Given the description of an element on the screen output the (x, y) to click on. 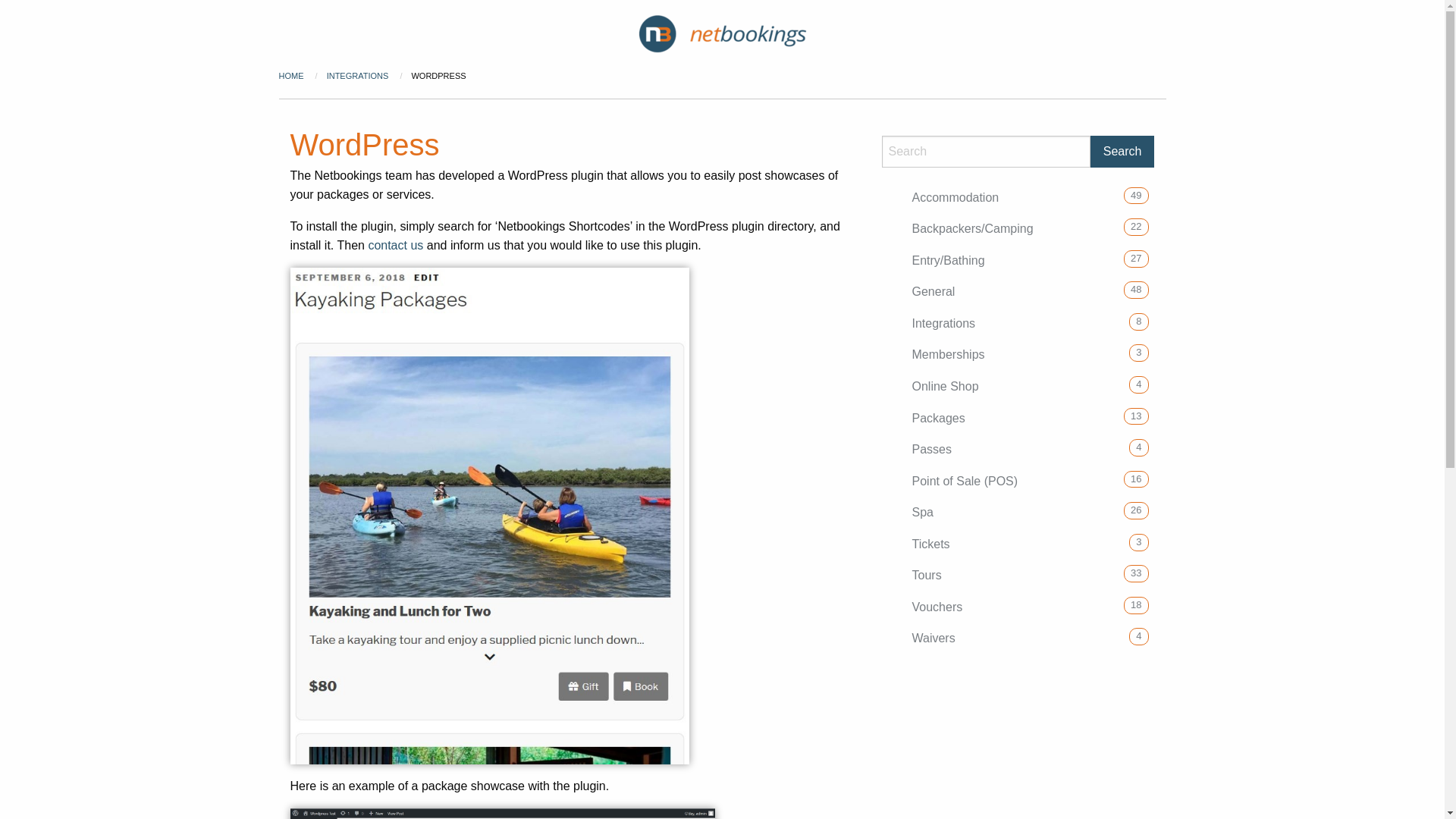
contact us Element type: text (395, 244)
Tours Element type: text (926, 575)
Online Shop Element type: text (944, 386)
General Element type: text (932, 291)
Entry/Bathing Element type: text (947, 260)
Tickets Element type: text (930, 544)
INTEGRATIONS Element type: text (358, 75)
Accommodation Element type: text (954, 197)
Memberships Element type: text (947, 354)
Integrations Element type: text (943, 323)
Search Element type: text (1122, 151)
Packages Element type: text (937, 417)
Spa Element type: text (921, 512)
Passes Element type: text (930, 449)
Point of Sale (POS) Element type: text (964, 481)
HOME Element type: text (291, 75)
Backpackers/Camping Element type: text (971, 228)
Vouchers Element type: text (936, 607)
Waivers Element type: text (932, 638)
